Given the description of an element on the screen output the (x, y) to click on. 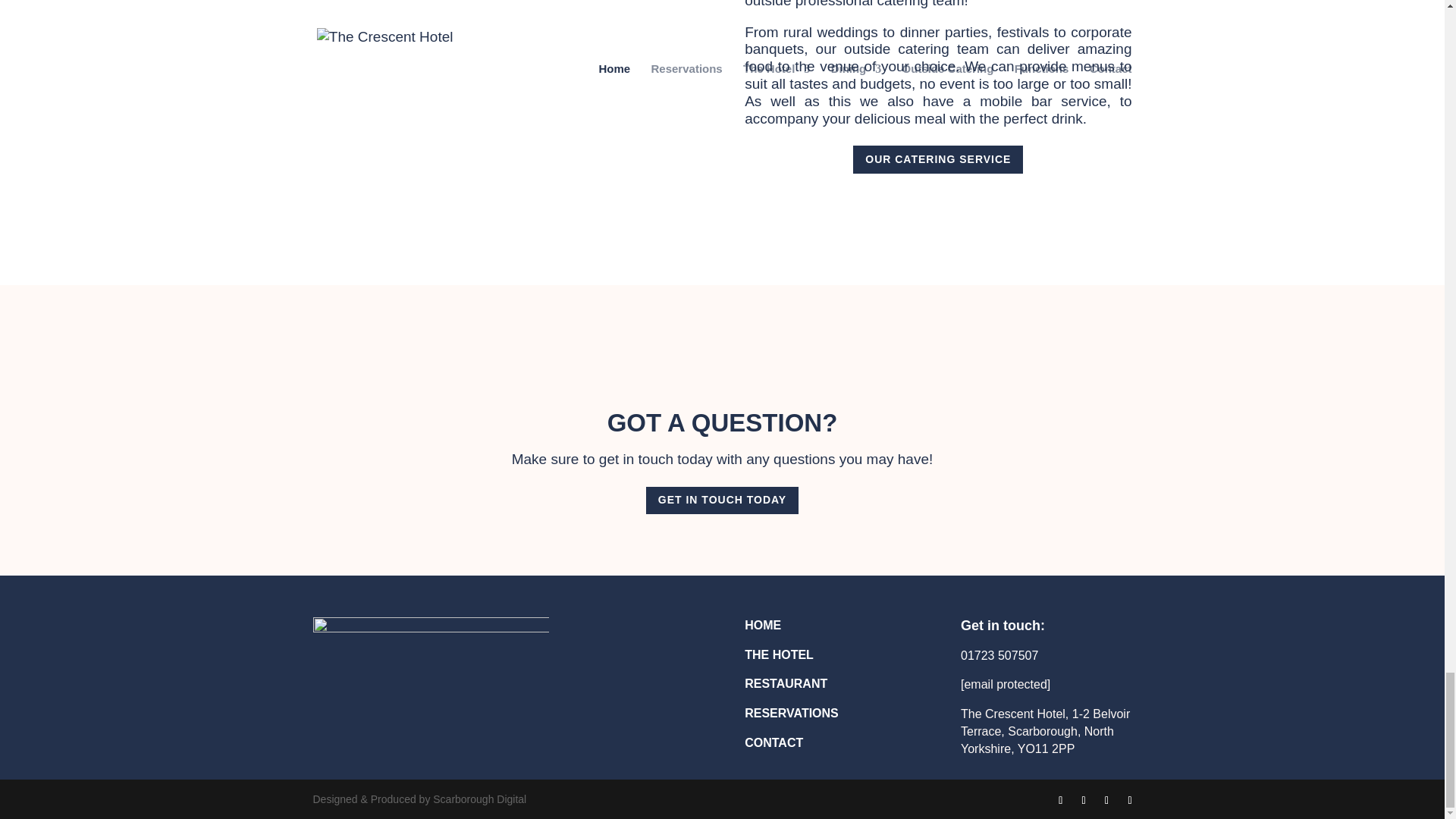
OUR CATERING SERVICE (938, 158)
GET IN TOUCH TODAY (721, 500)
Logo Variations-02 (430, 687)
homepage image-01 (505, 112)
